Given the description of an element on the screen output the (x, y) to click on. 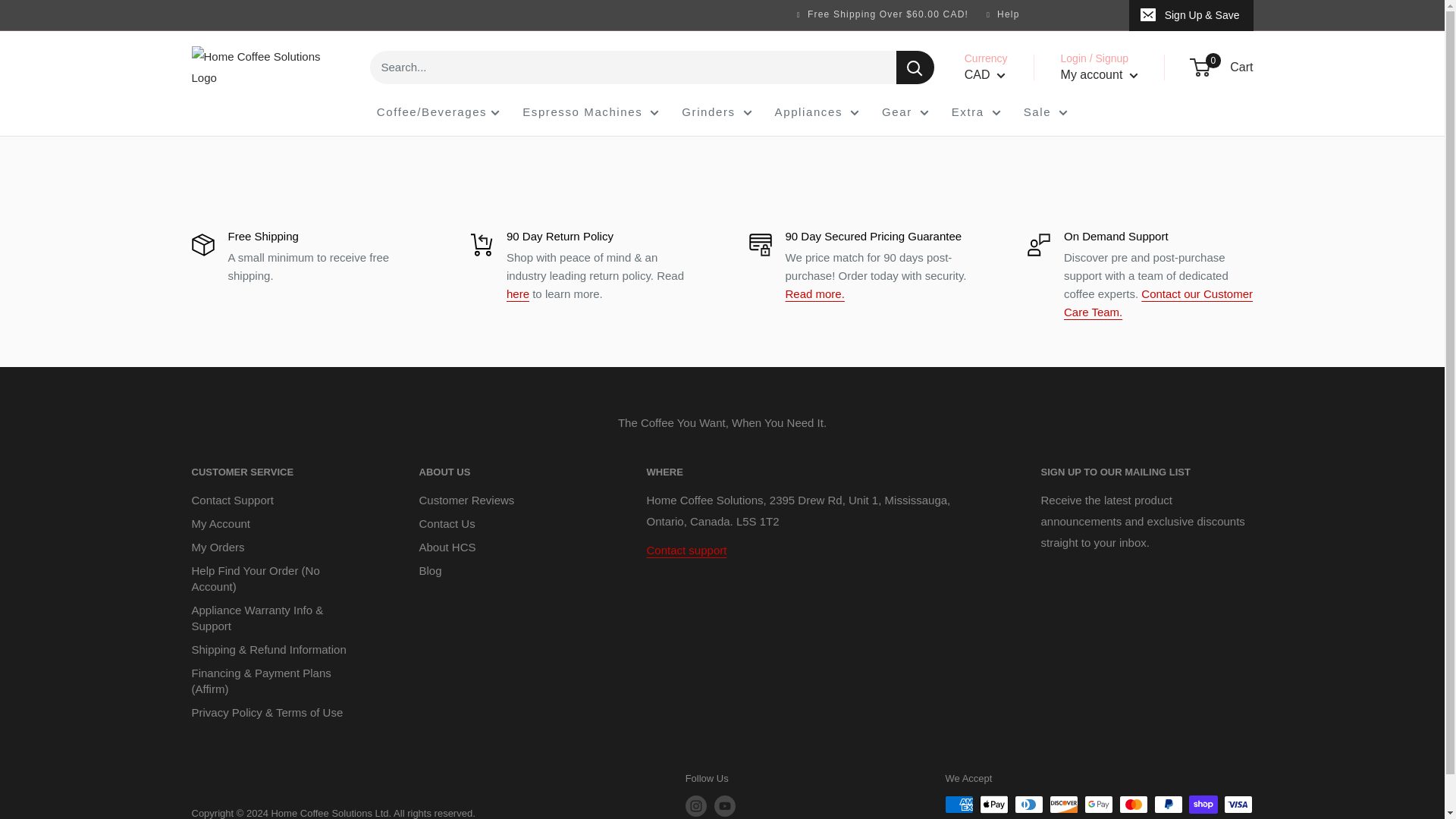
  Help   (1006, 14)
Contact Info (1158, 302)
90 Day Secured Lowest Price Guarantee (815, 293)
Contact Info (686, 549)
